Given the description of an element on the screen output the (x, y) to click on. 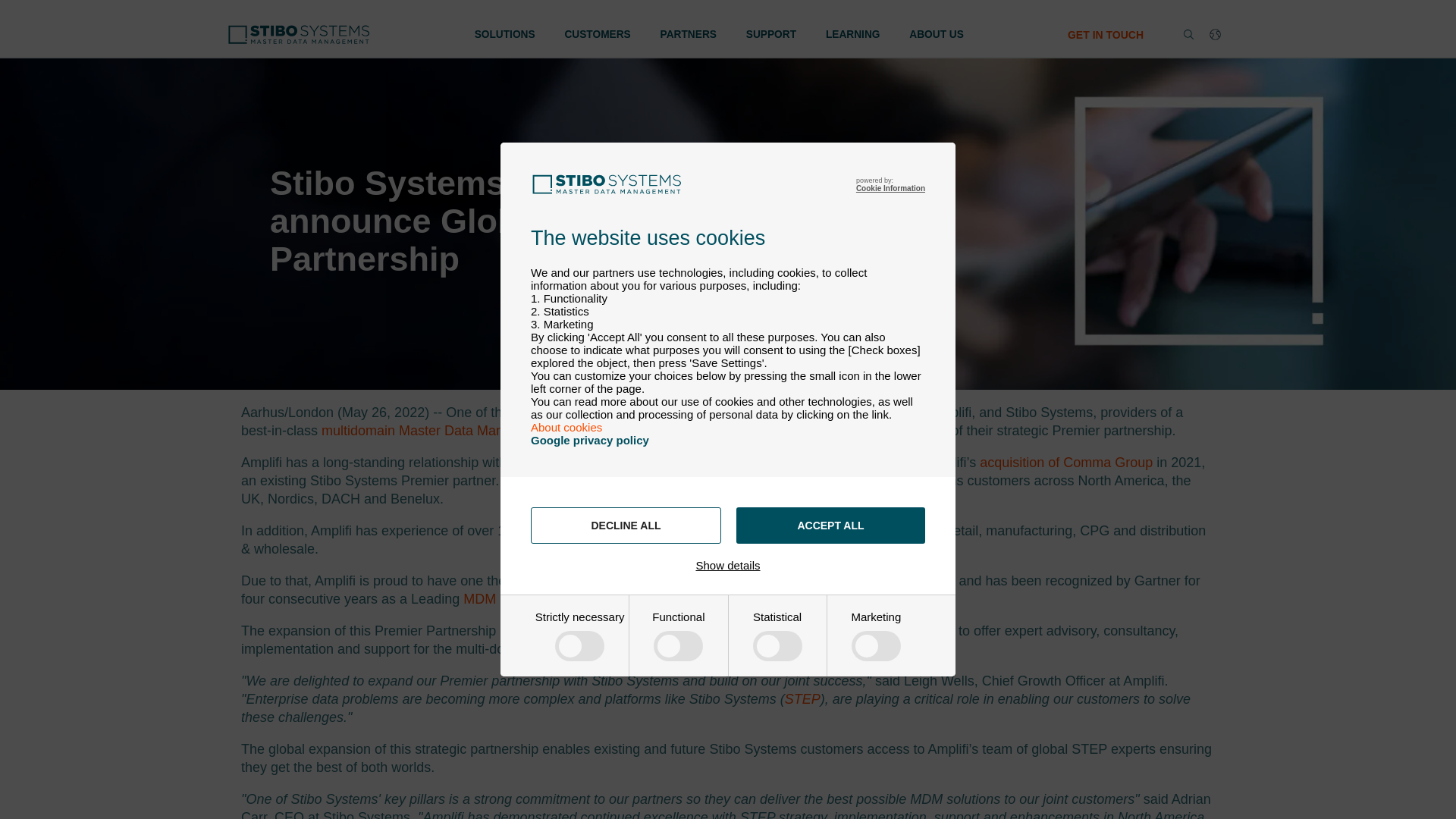
About cookies (566, 427)
Cookie Information (890, 188)
DECLINE ALL (625, 524)
ACCEPT ALL (830, 524)
Show details (727, 564)
Google privacy policy (590, 440)
